Given the description of an element on the screen output the (x, y) to click on. 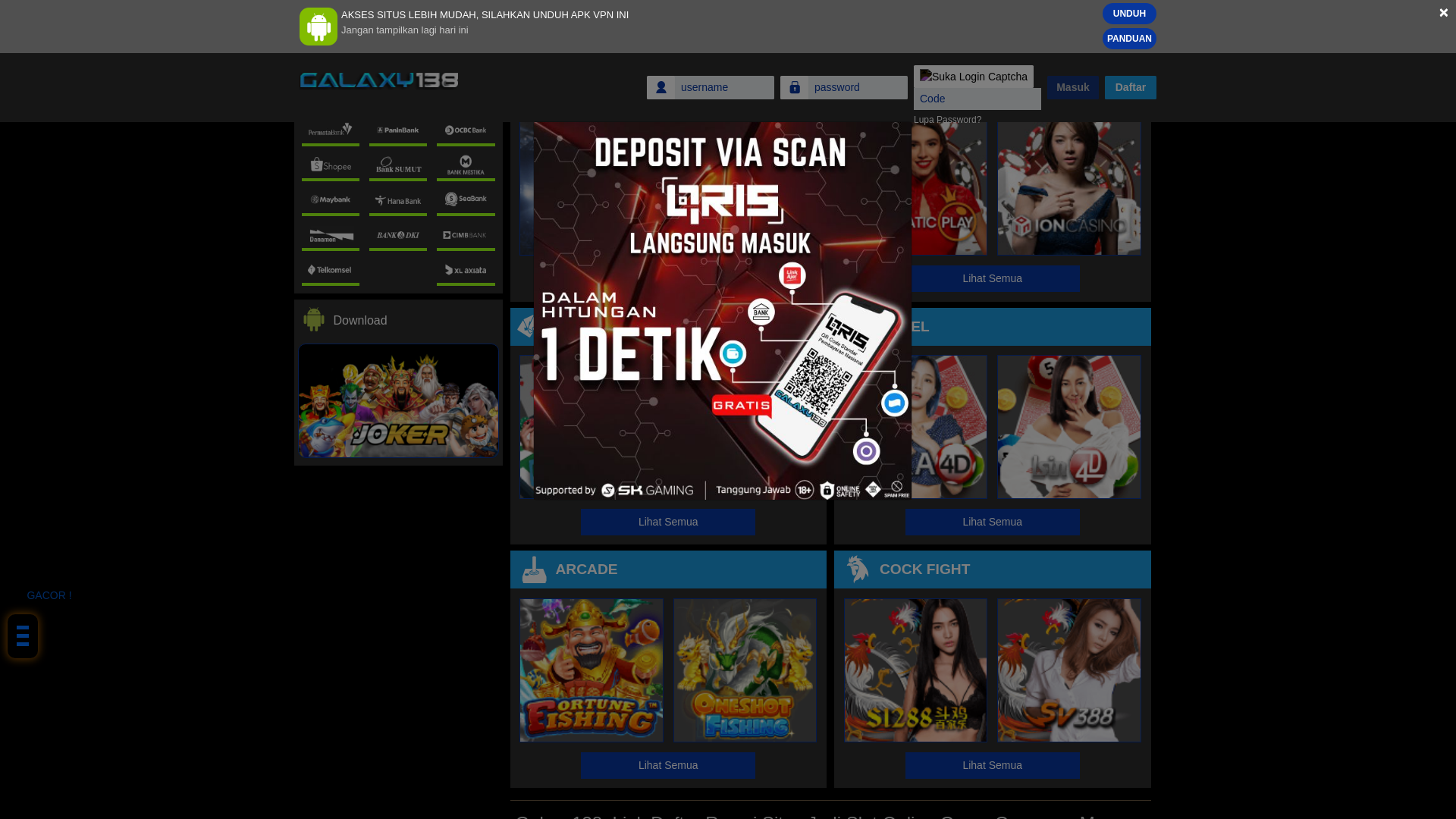
BCA DIGITAL (465, 2)
BRI (330, 2)
BNI (398, 2)
